Given the description of an element on the screen output the (x, y) to click on. 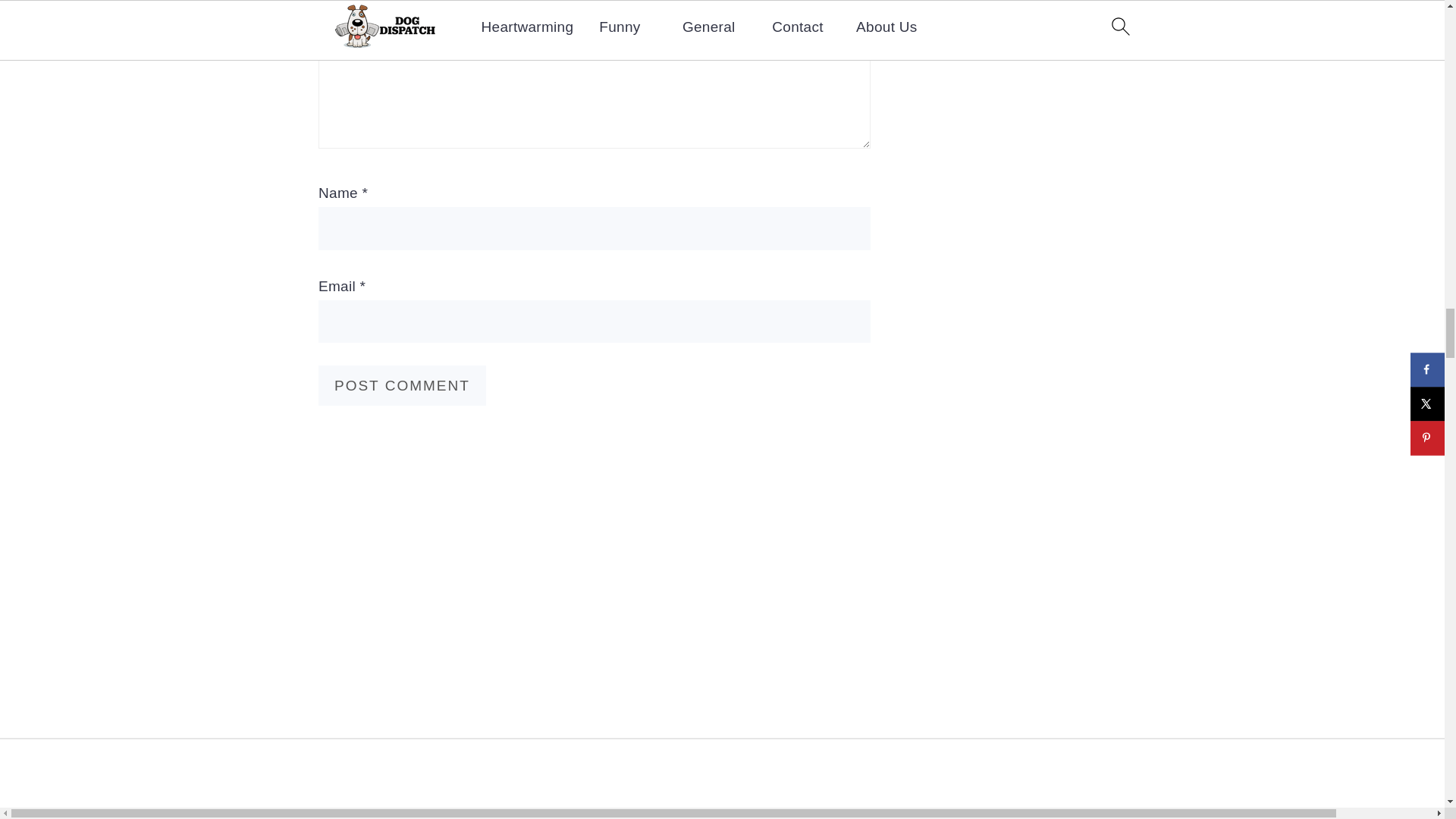
Post Comment (402, 385)
Post Comment (402, 385)
